Given the description of an element on the screen output the (x, y) to click on. 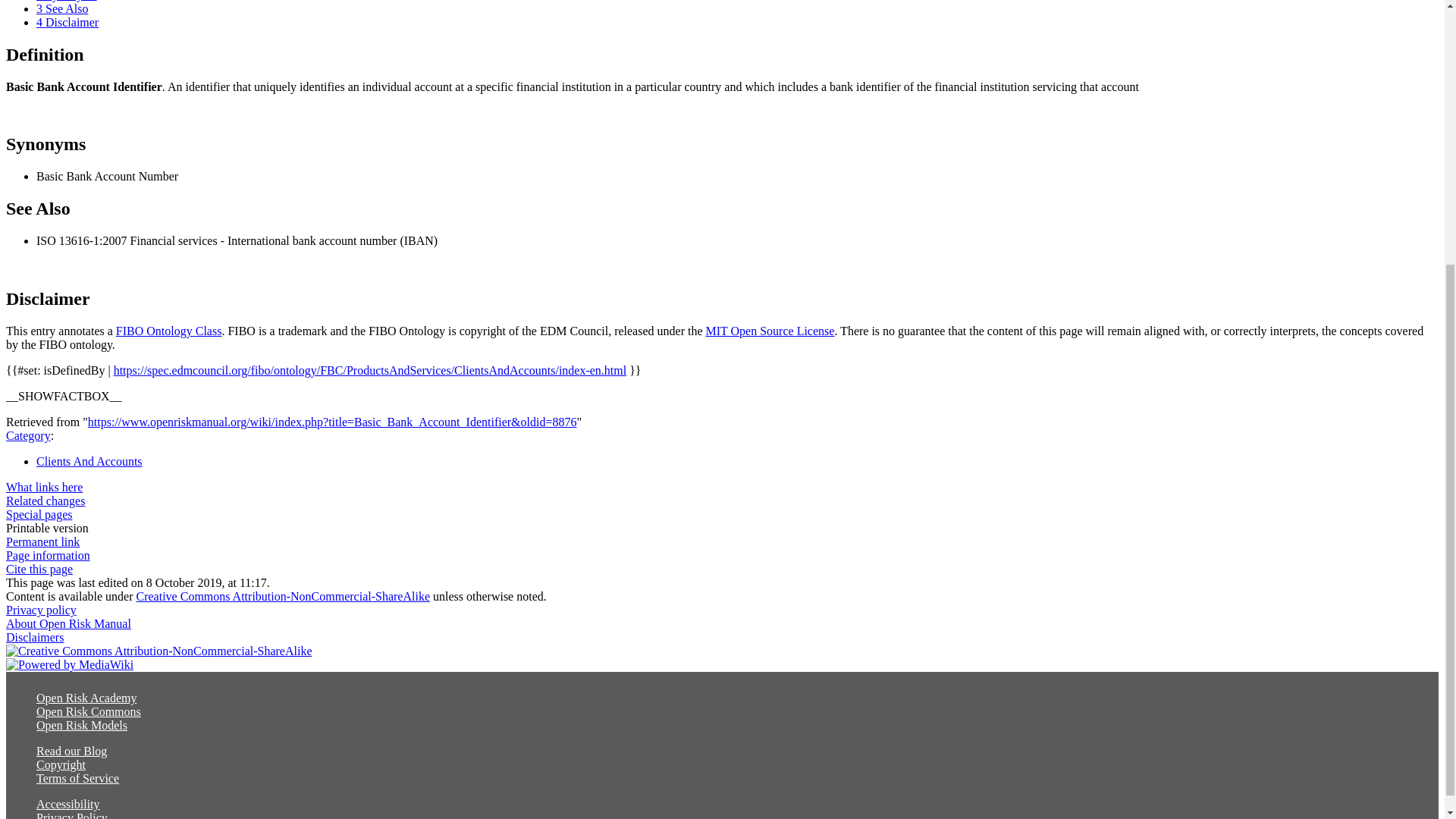
Permanent link to this revision of this page (42, 541)
Clients And Accounts (89, 461)
4 Disclaimer (67, 21)
Special pages (38, 513)
Privacy policy (41, 609)
FIBO Ontology Class (169, 330)
Category:Clients And Accounts (89, 461)
Page information (47, 554)
Information on how to cite this page (38, 568)
MIT Open Source License (770, 330)
Category (27, 435)
Cite this page (38, 568)
Creative Commons Attribution-NonCommercial-ShareAlike (282, 595)
Permanent link (42, 541)
Related changes (44, 500)
